Given the description of an element on the screen output the (x, y) to click on. 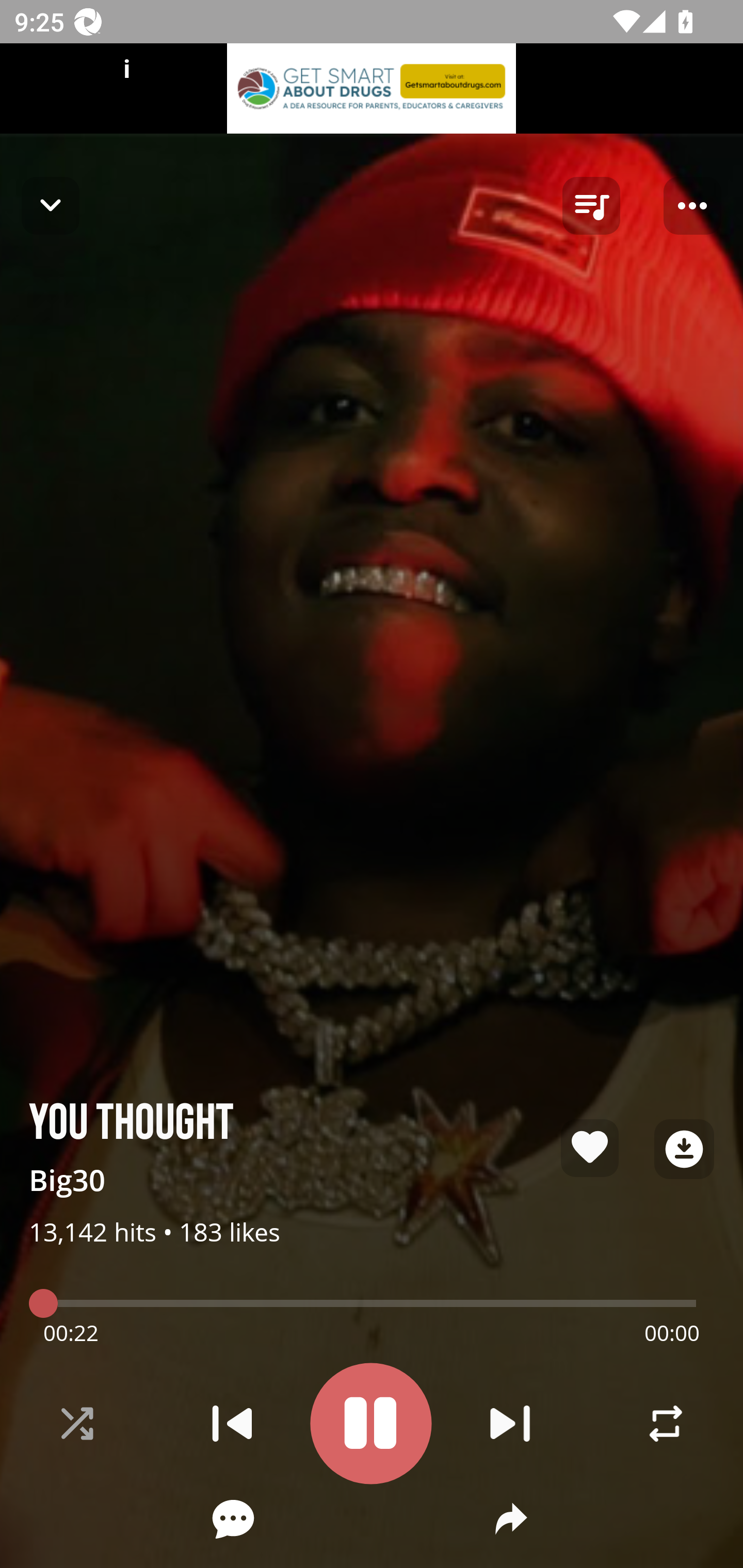
Navigate up (50, 205)
queue (590, 206)
Player options (692, 206)
